Given the description of an element on the screen output the (x, y) to click on. 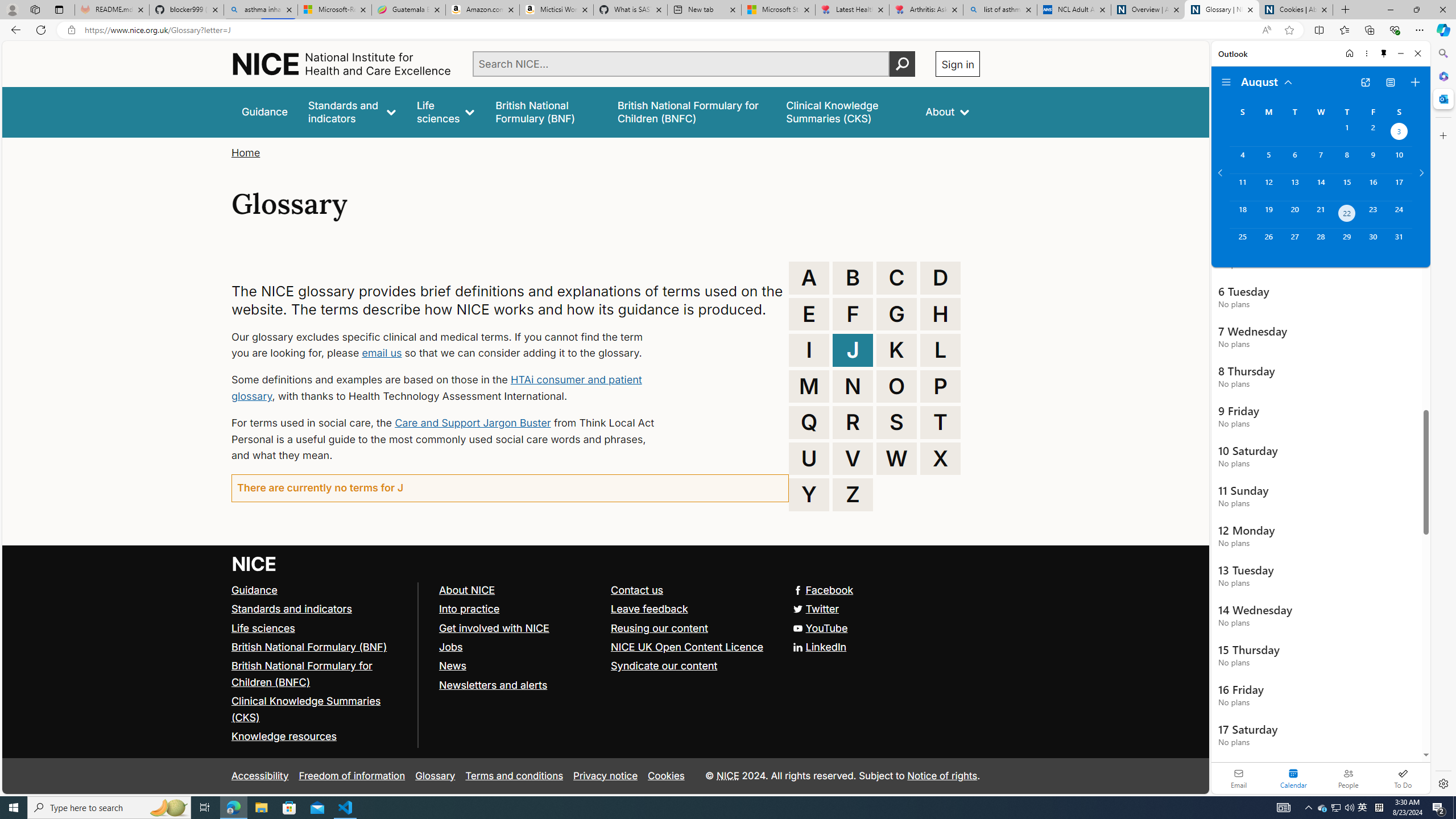
email us (381, 353)
Thursday, August 29, 2024.  (1346, 241)
Care and Support Jargon Buster (472, 422)
U (809, 458)
Monday, August 26, 2024.  (1268, 241)
Close Customize pane (1442, 135)
To Do (1402, 777)
Wednesday, August 7, 2024.  (1320, 159)
Twitter (816, 608)
Saturday, August 10, 2024.  (1399, 159)
Privacy notice (605, 775)
Reusing our content (692, 628)
Get involved with NICE (493, 627)
